Given the description of an element on the screen output the (x, y) to click on. 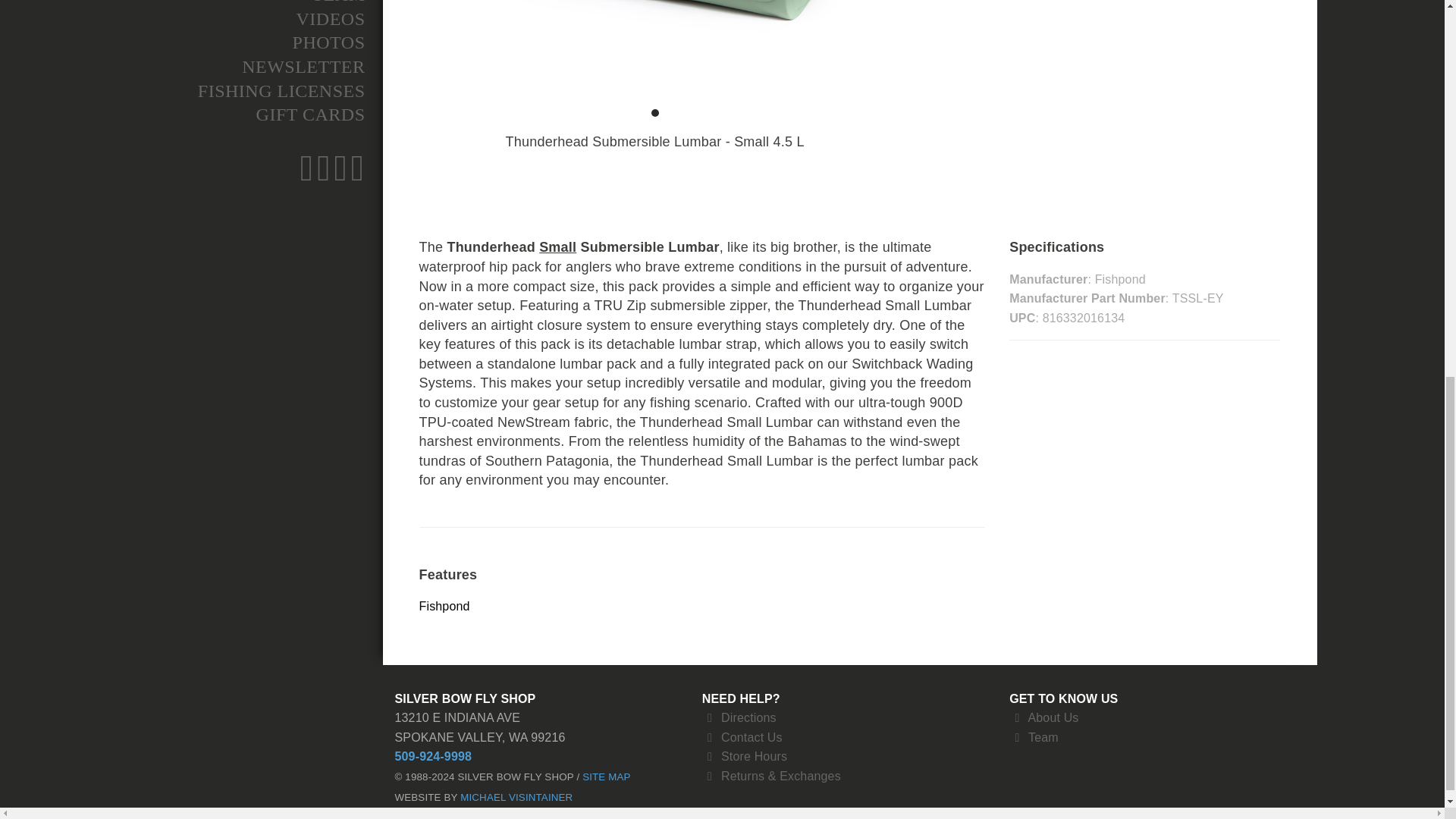
Twitter (323, 175)
Instagram (340, 175)
Youtube (357, 175)
Facebook (306, 175)
